Given the description of an element on the screen output the (x, y) to click on. 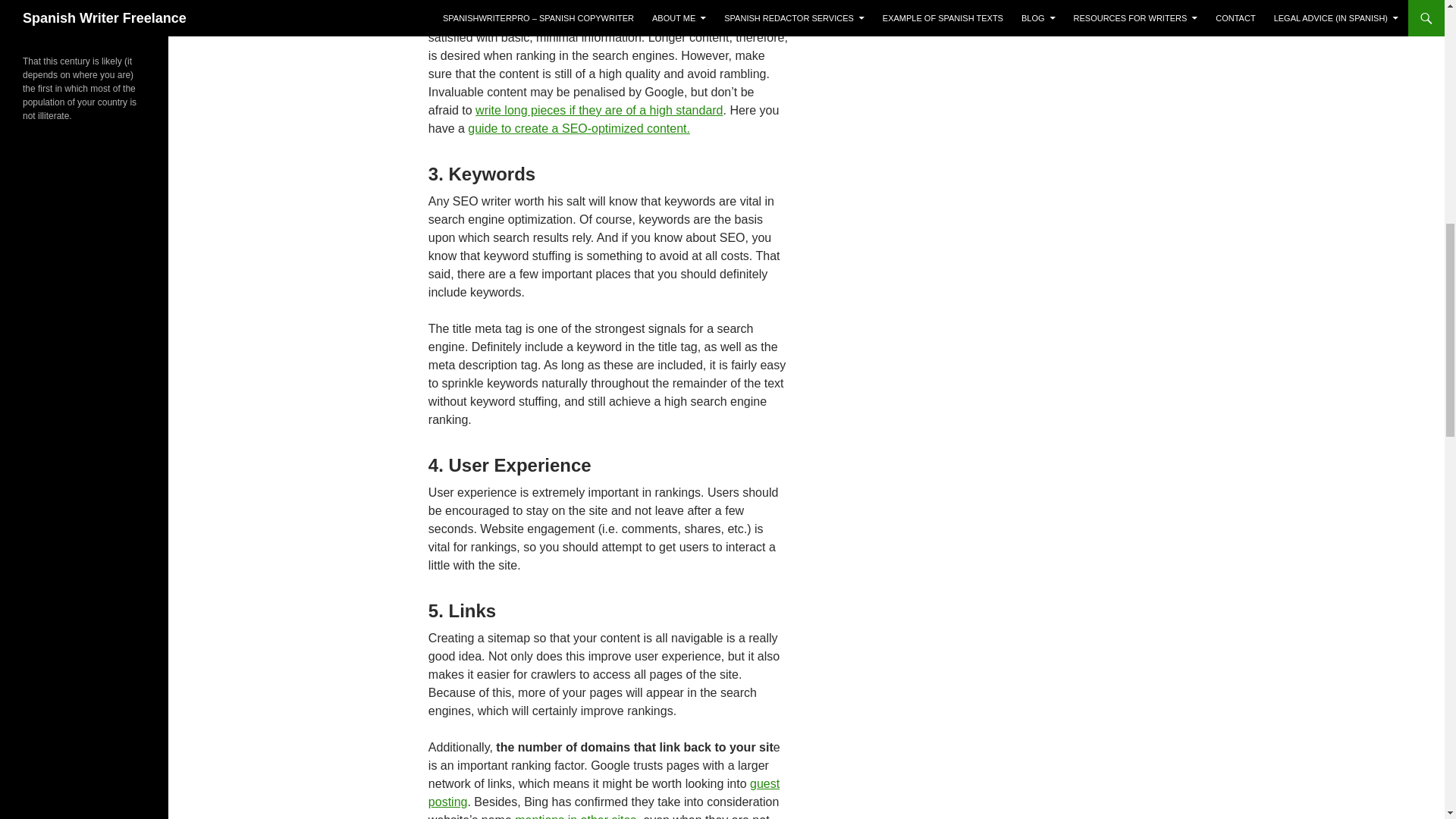
guest posting (603, 792)
write long pieces if they are of a high standard (599, 110)
guide to create a SEO-optimized content. (578, 128)
mentions in other sites (575, 816)
